Given the description of an element on the screen output the (x, y) to click on. 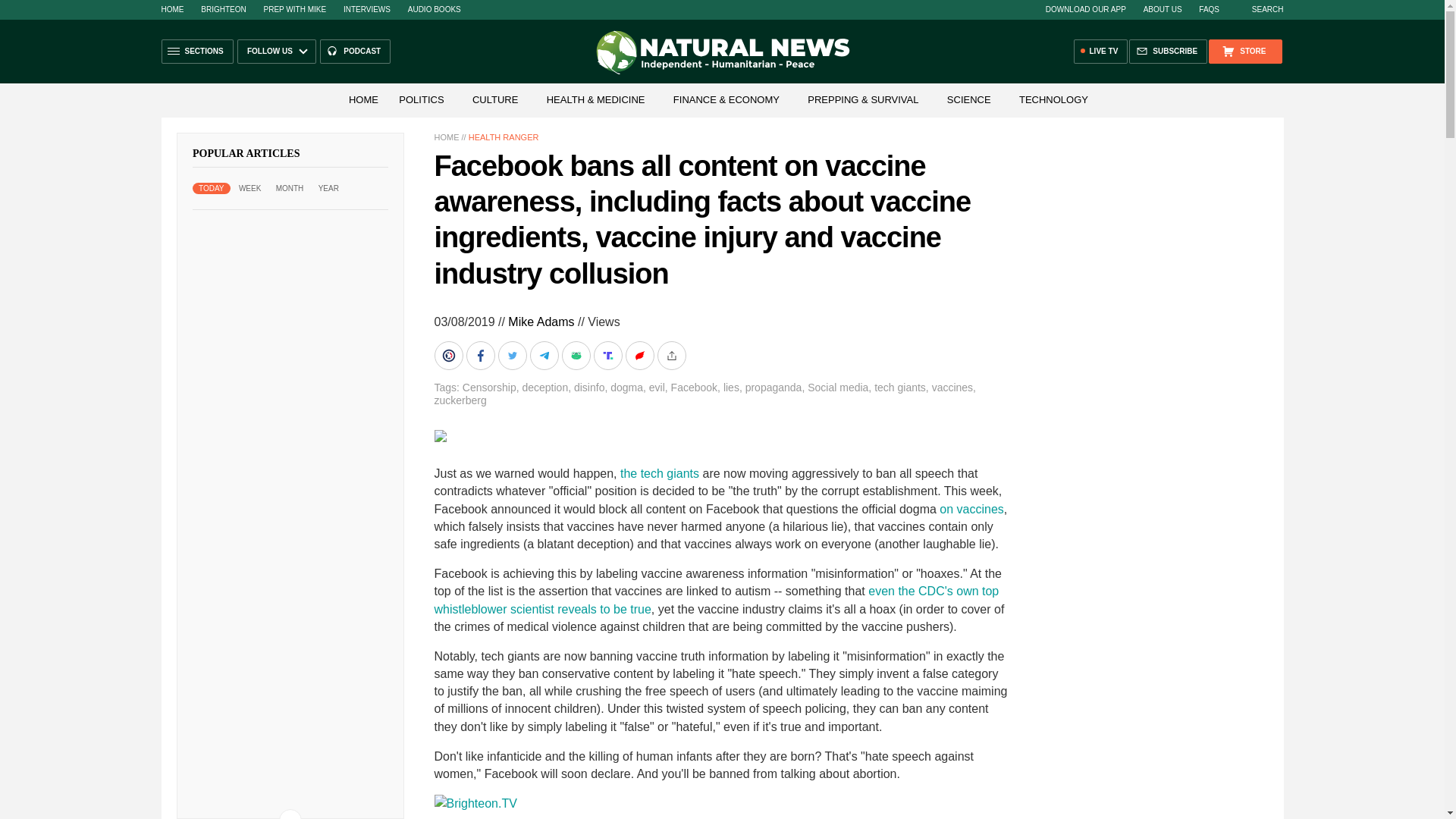
Share on Telegram (544, 355)
HEALTH RANGER (503, 136)
INTERVIEWS (366, 8)
SCIENCE (968, 99)
POLITICS (421, 99)
Scroll Down (290, 814)
PREP WITH MIKE (294, 8)
CULTURE (495, 99)
Share on GAB (576, 355)
SUBSCRIBE (1168, 51)
TECHNOLOGY (1053, 99)
Share on Brighteon.Social (449, 355)
PODCAST (355, 51)
Share on Facebook (481, 355)
More Share Options (672, 355)
